Given the description of an element on the screen output the (x, y) to click on. 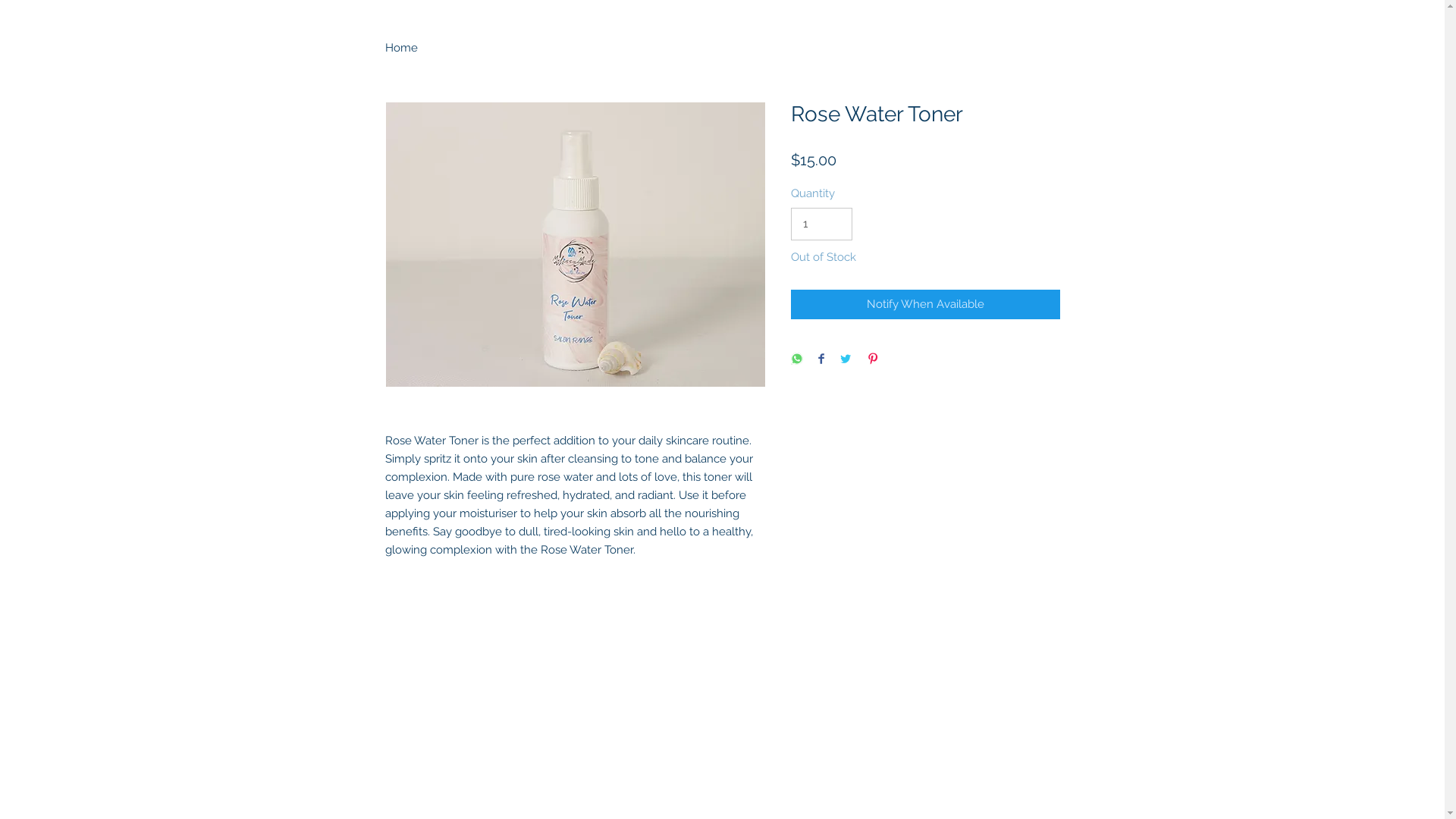
Home Element type: text (401, 47)
Notify When Available Element type: text (924, 304)
